Given the description of an element on the screen output the (x, y) to click on. 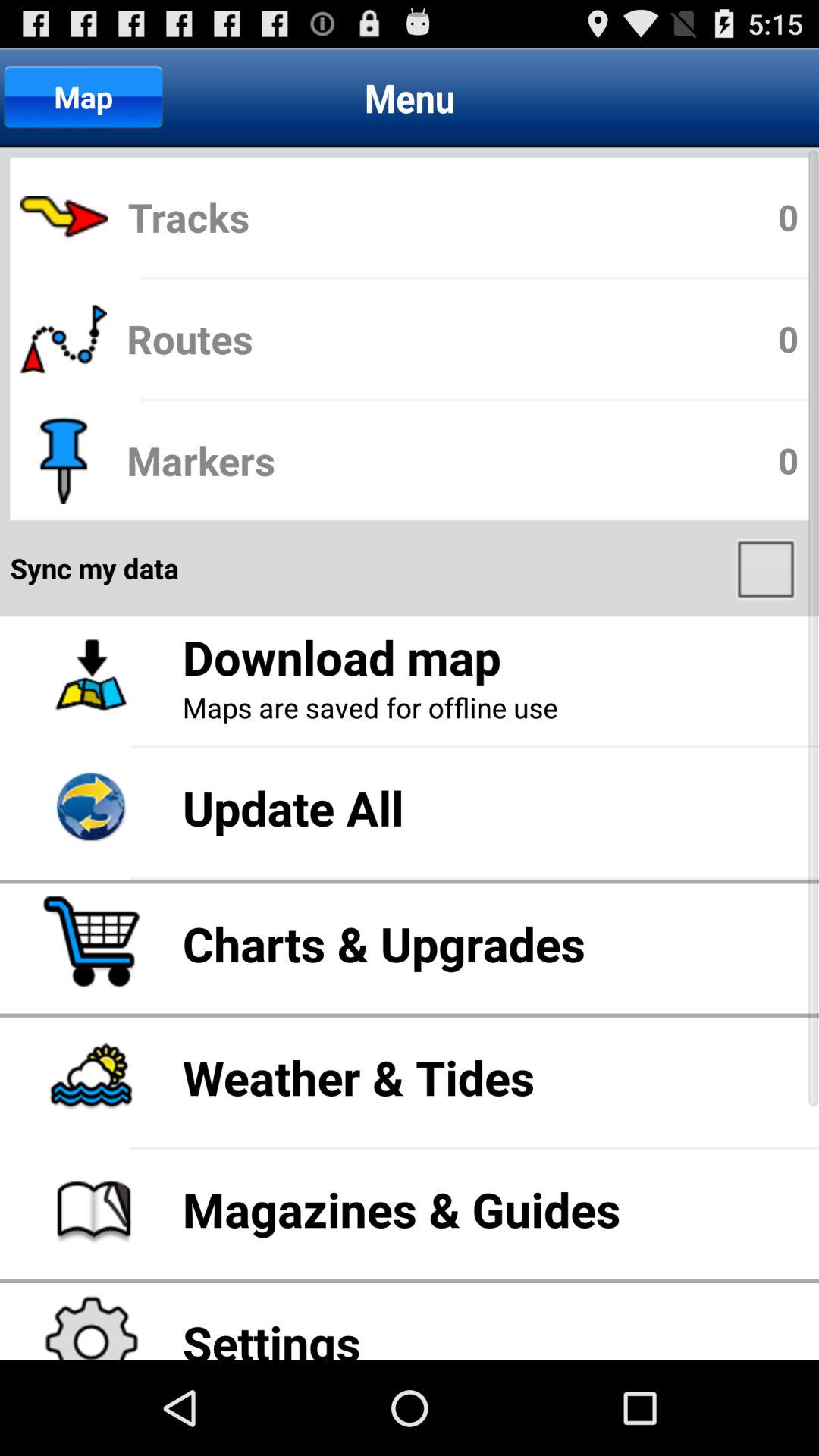
turn off item above download map app (767, 567)
